Given the description of an element on the screen output the (x, y) to click on. 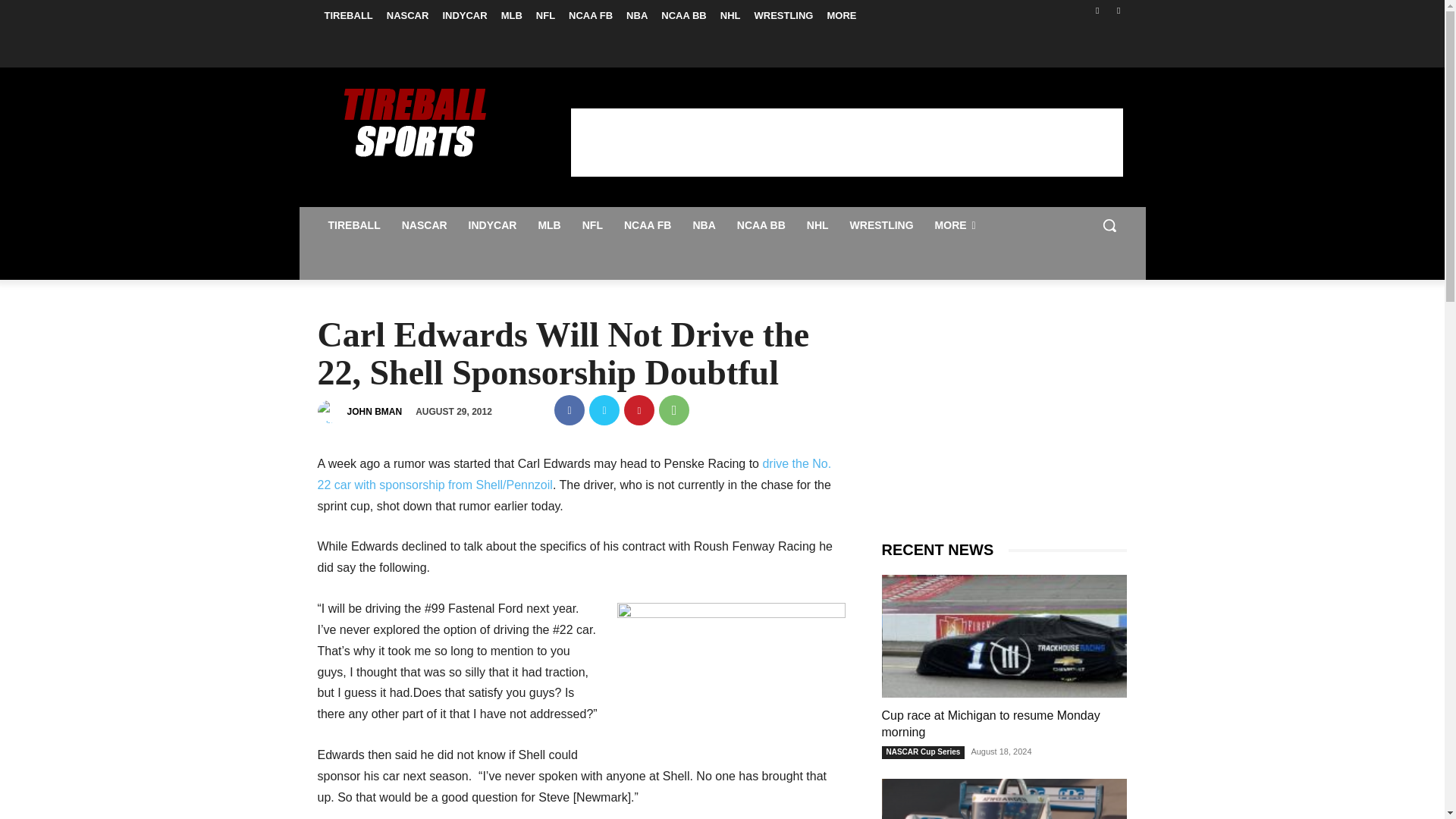
INDYCAR (464, 15)
NFL (545, 15)
MLB (512, 15)
Pinterest (638, 409)
John Bman (330, 411)
NASCAR (424, 225)
NCAA BB (683, 15)
INDYCAR (492, 225)
NBA (636, 15)
Facebook (569, 409)
